Given the description of an element on the screen output the (x, y) to click on. 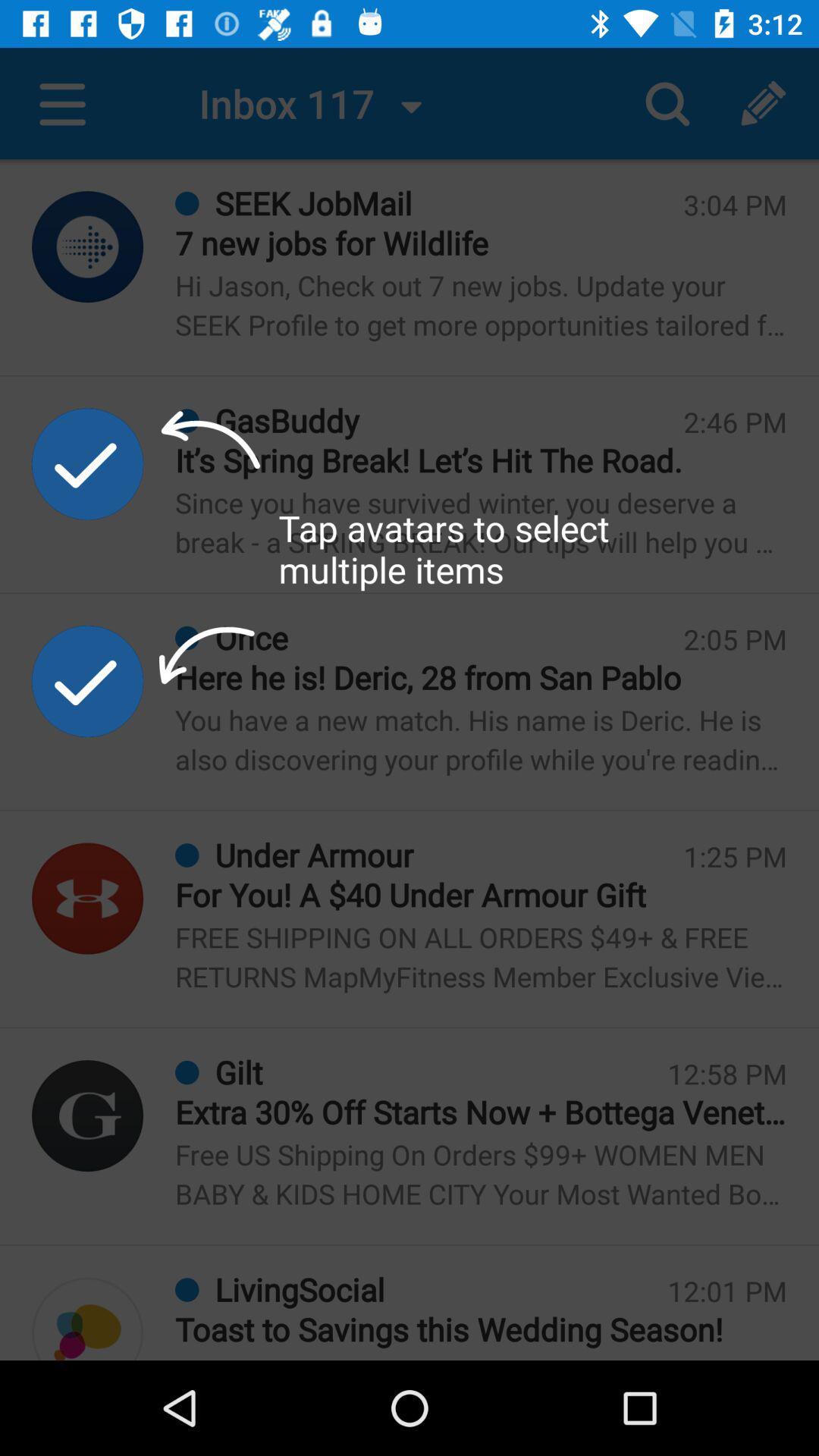
select message (87, 898)
